Given the description of an element on the screen output the (x, y) to click on. 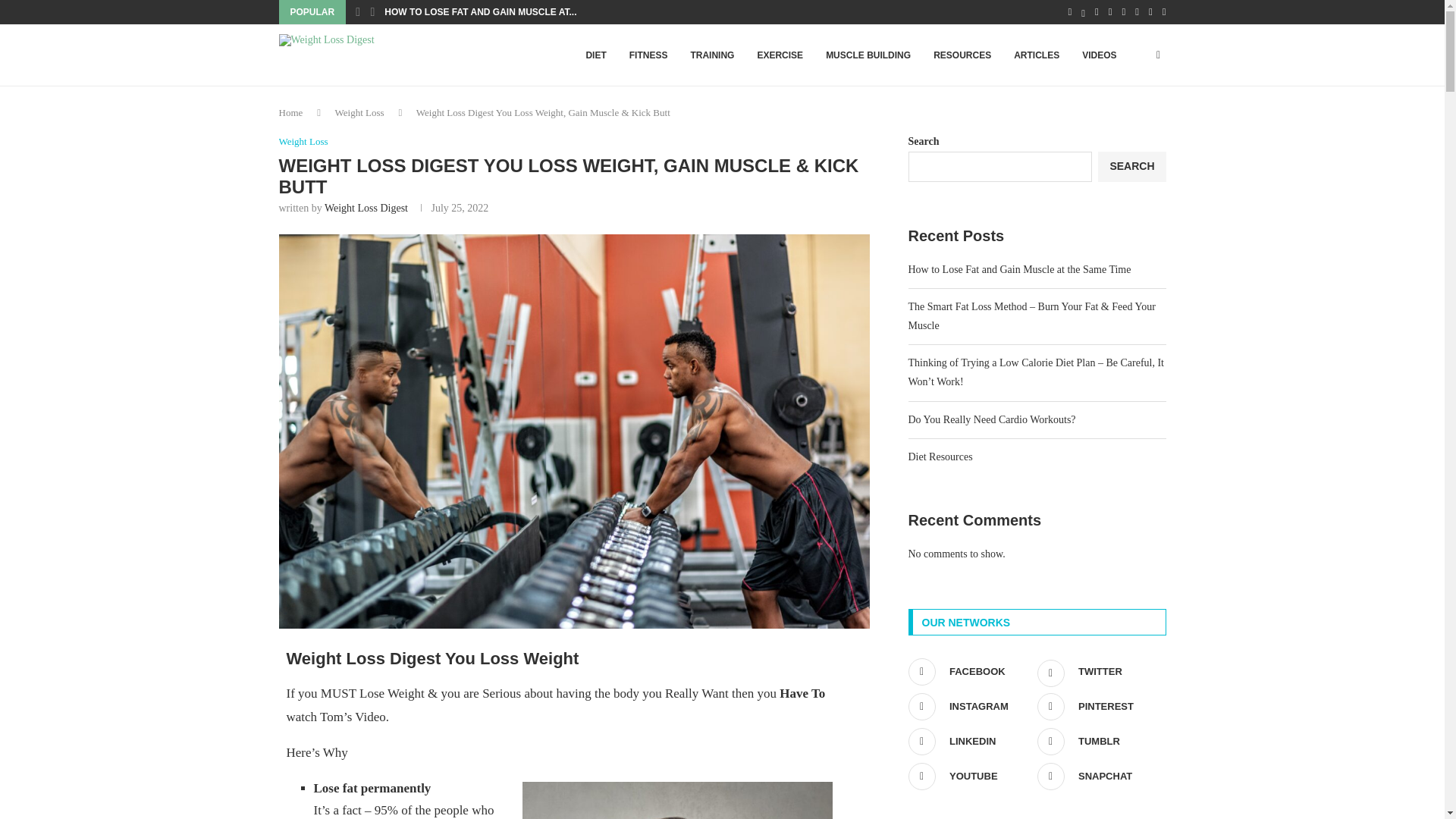
RESOURCES (962, 55)
HOW TO LOSE FAT AND GAIN MUSCLE AT... (480, 12)
Weight Loss (359, 112)
MUSCLE BUILDING (868, 55)
Home (290, 112)
Weight Loss Digest (365, 207)
Weight Loss (304, 141)
